Given the description of an element on the screen output the (x, y) to click on. 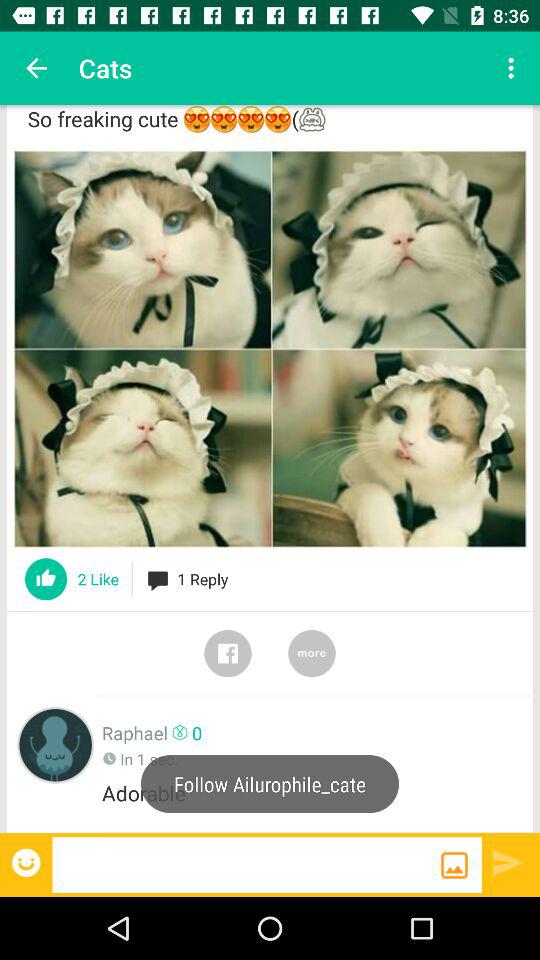
more pictures (312, 653)
